Given the description of an element on the screen output the (x, y) to click on. 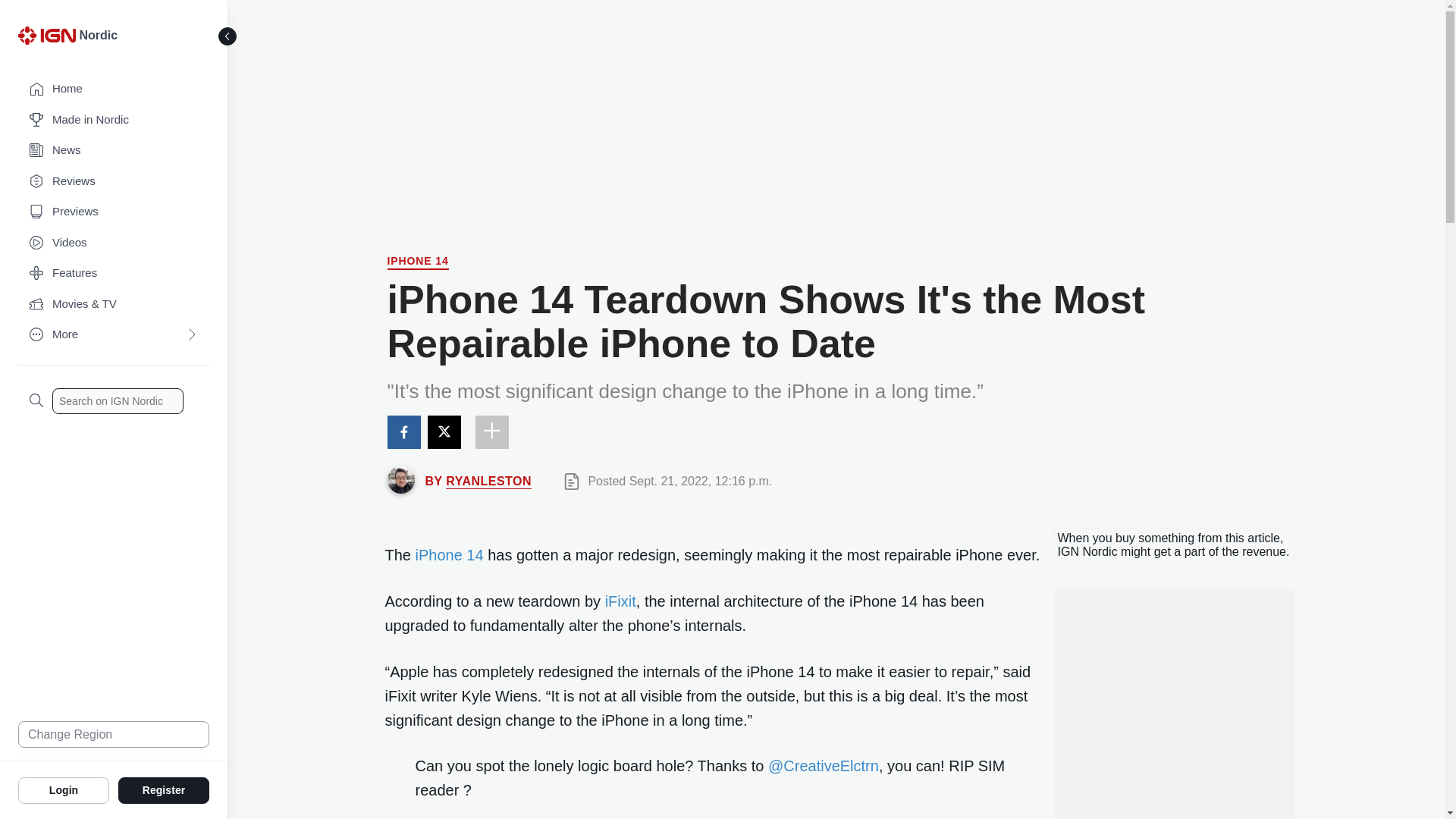
Previews (113, 211)
Home (113, 89)
Made in Nordic (113, 119)
Reviews (113, 181)
News (113, 150)
Login (63, 789)
IPHONE 14 (417, 262)
Videos (113, 242)
Features (113, 273)
IGN Logo (46, 34)
